Given the description of an element on the screen output the (x, y) to click on. 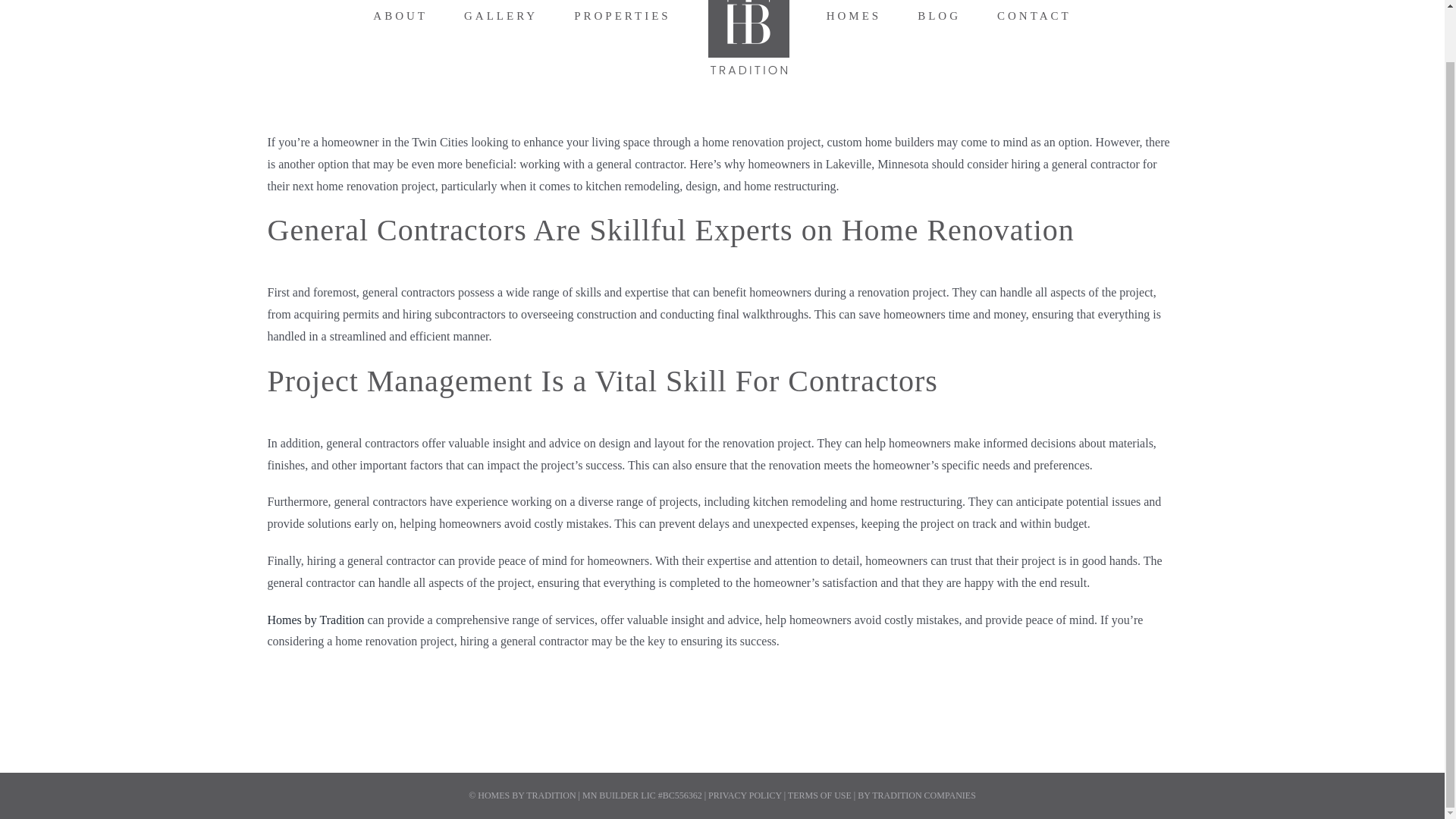
BLOG (938, 23)
GALLERY (500, 23)
TERMS OF USE (819, 795)
ABOUT (400, 23)
TRADITION COMPANIES (923, 795)
Homes by Tradition (315, 619)
CONTACT (1034, 23)
PROPERTIES (621, 23)
HOMES (854, 23)
